Given the description of an element on the screen output the (x, y) to click on. 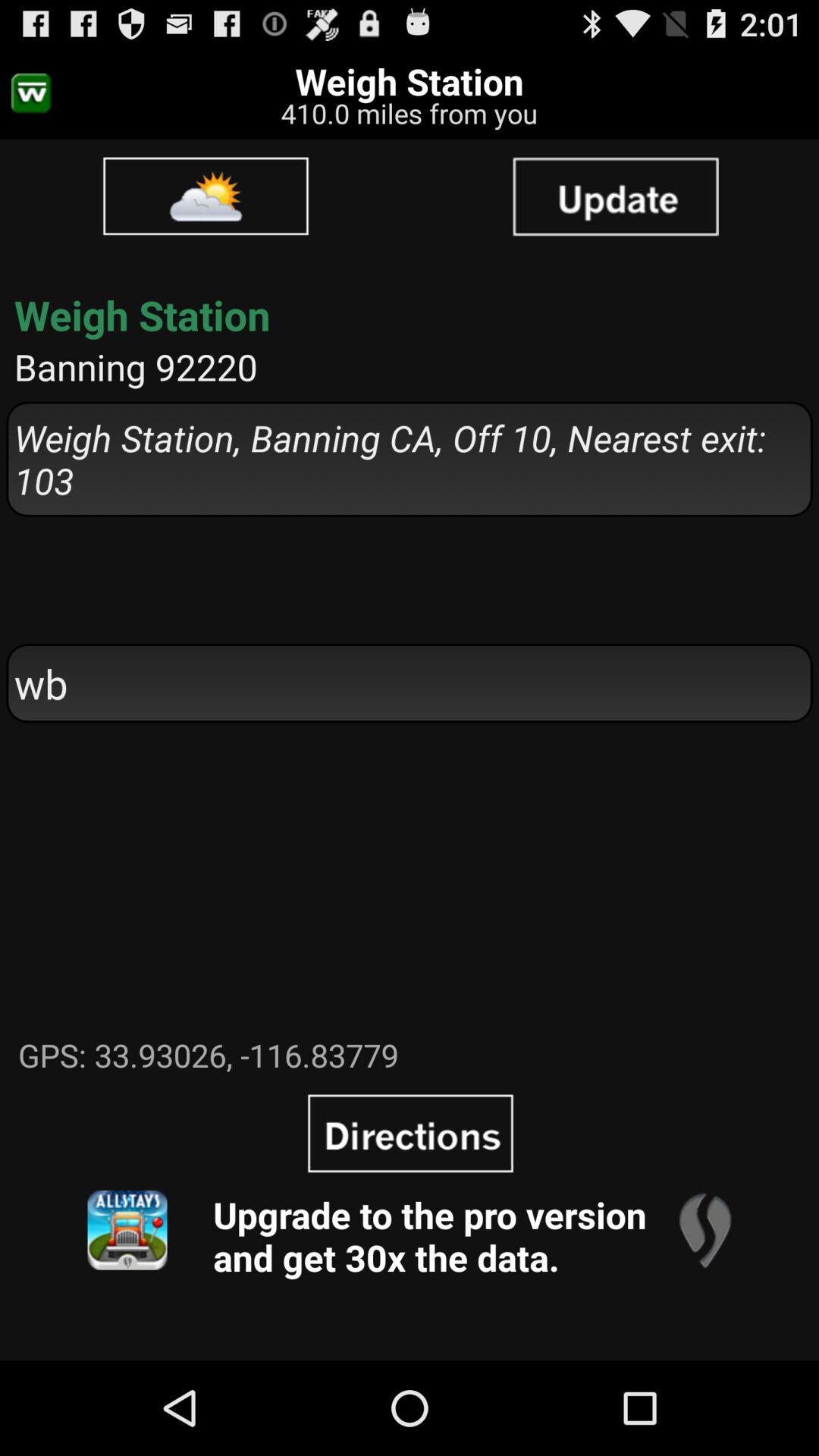
select item at the bottom right corner (704, 1230)
